Given the description of an element on the screen output the (x, y) to click on. 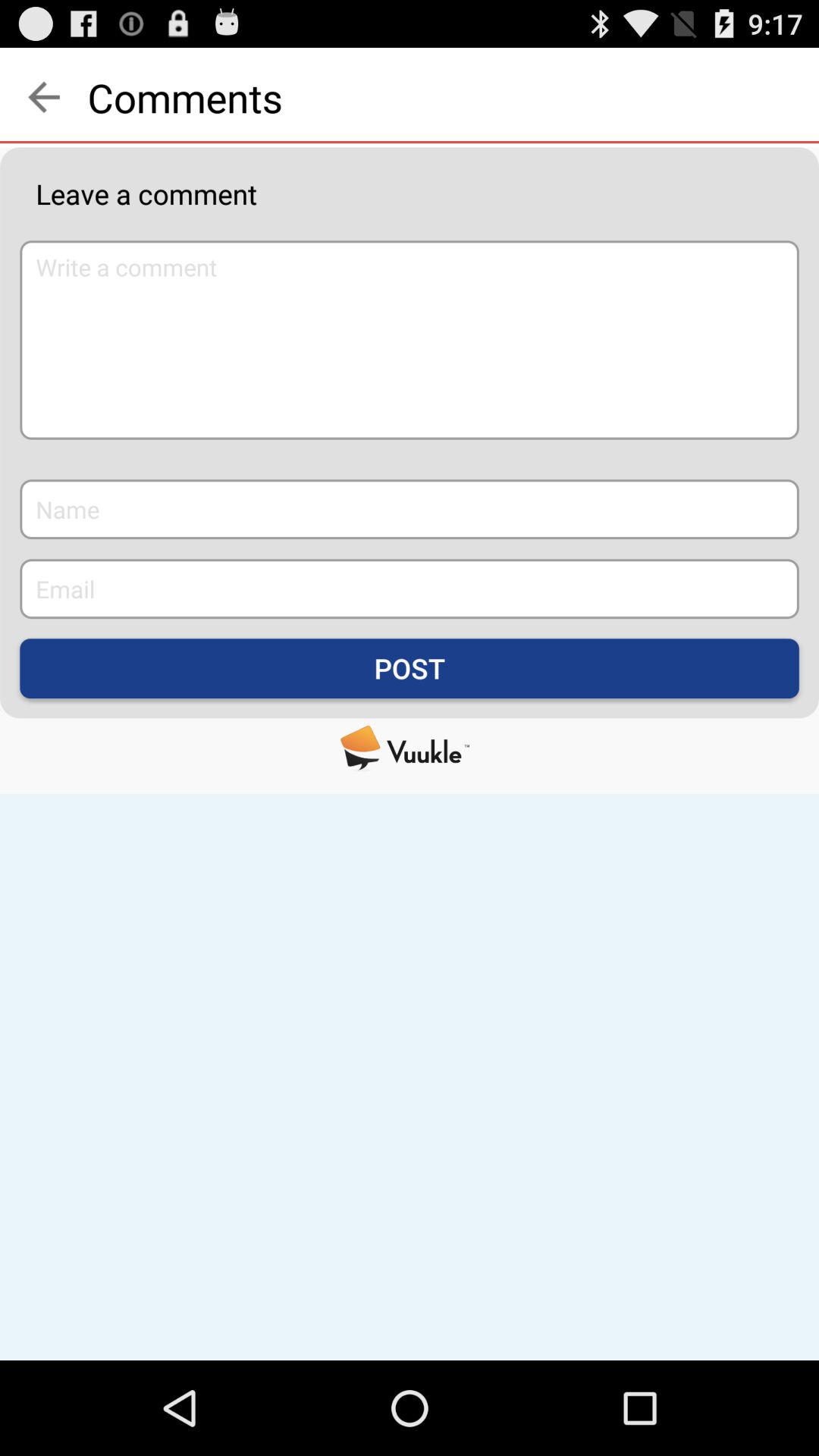
turn on icon to the left of the comments item (43, 97)
